Given the description of an element on the screen output the (x, y) to click on. 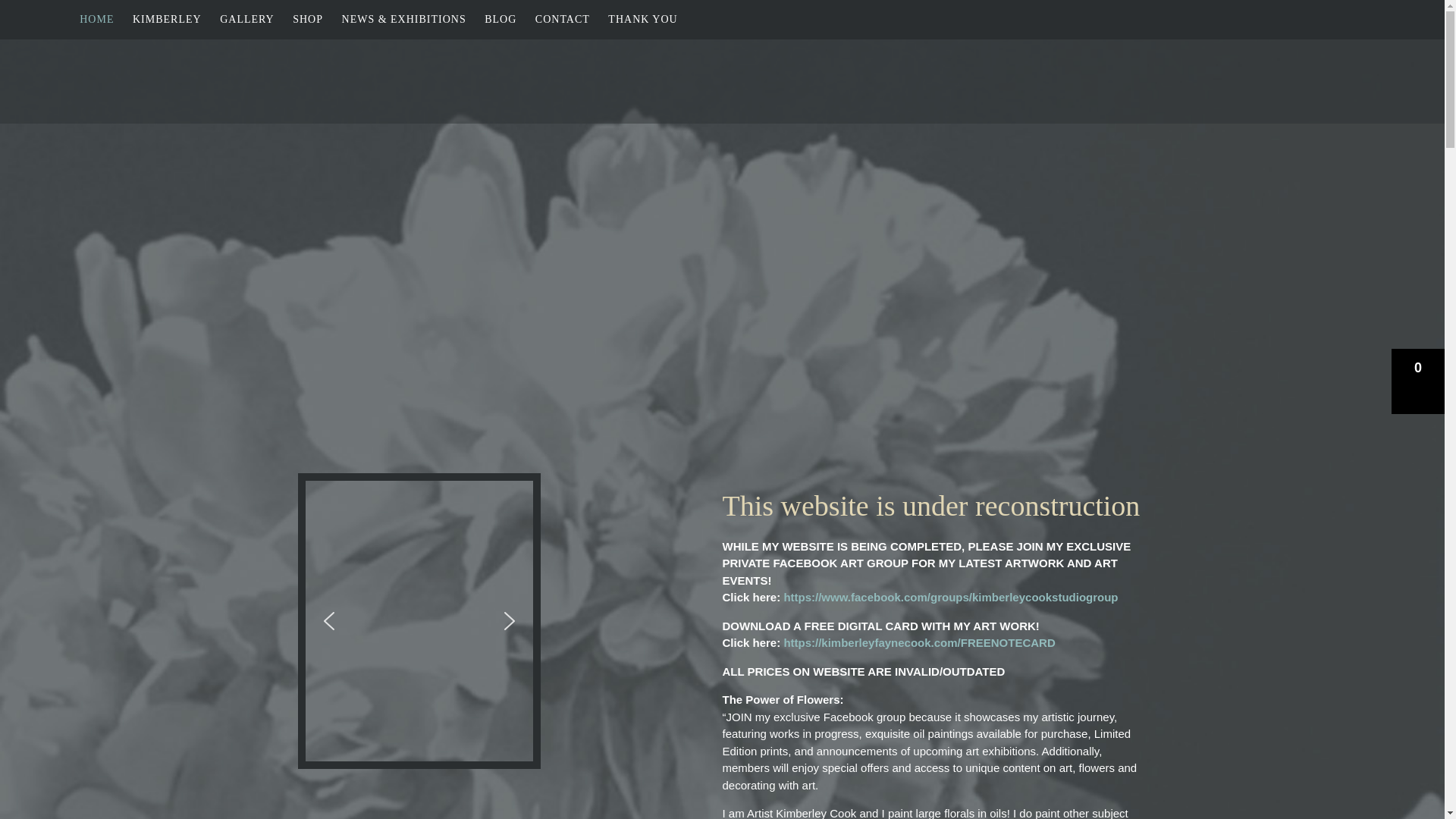
GALLERY (247, 19)
KIMBERLEY (167, 19)
THANK YOU (642, 19)
CONTACT (562, 19)
